Given the description of an element on the screen output the (x, y) to click on. 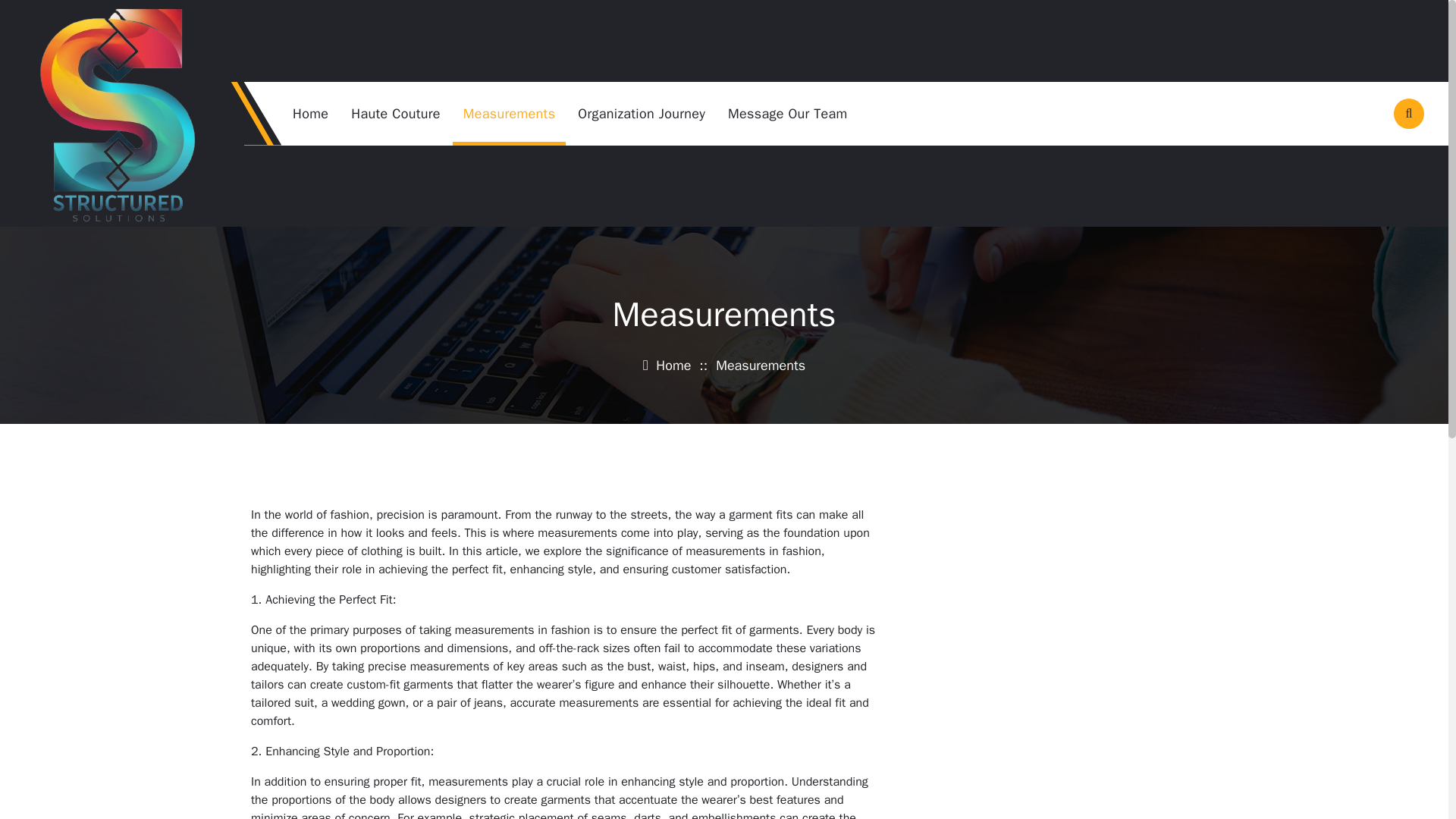
Haute Couture (395, 113)
Measurements (509, 113)
Message Our Team (787, 113)
Measurements (509, 113)
Organization Journey (641, 113)
Message Our Team (787, 113)
Organization Journey (641, 113)
Haute Couture (395, 113)
